Given the description of an element on the screen output the (x, y) to click on. 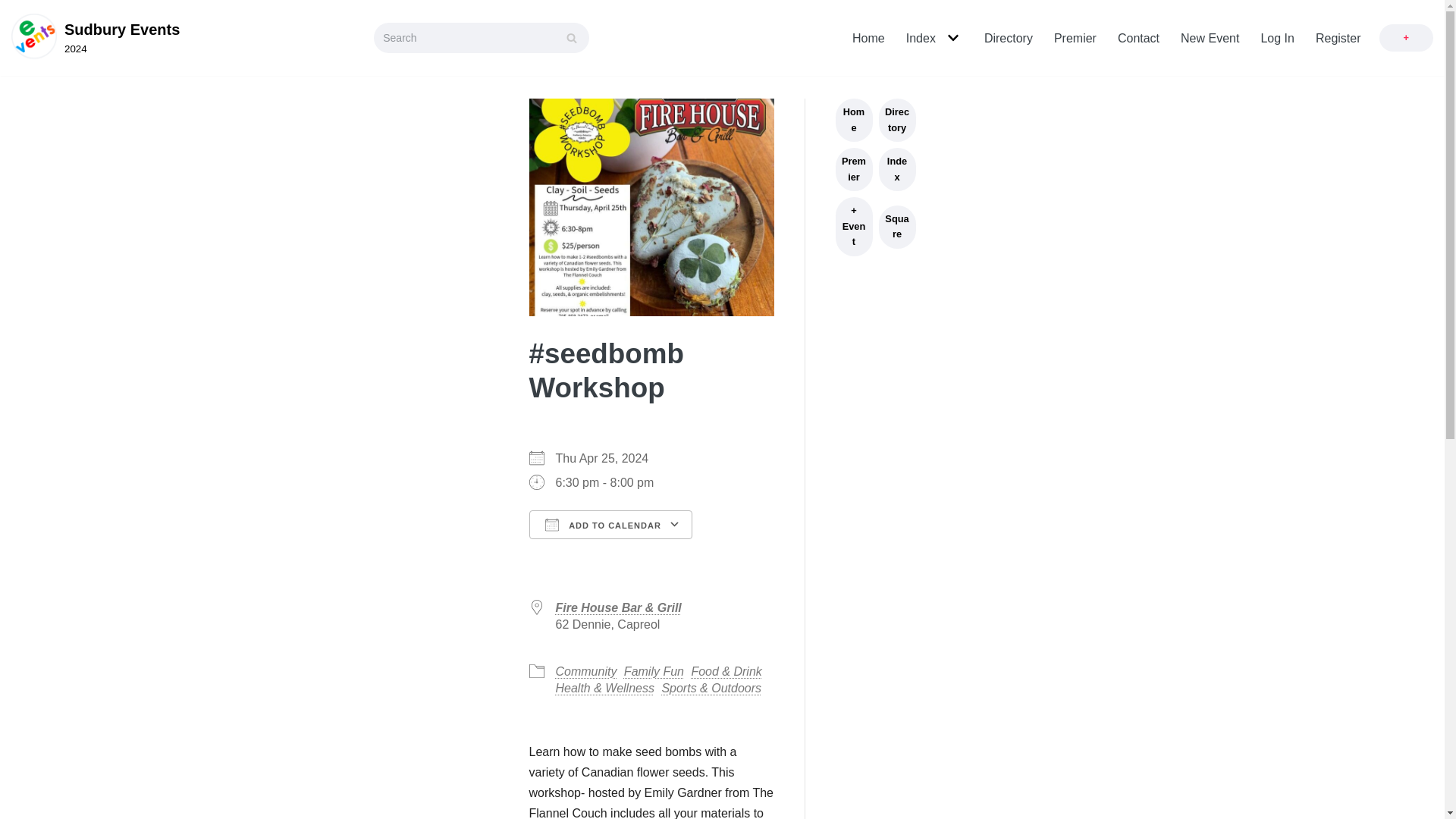
Home (868, 37)
Directory (1008, 37)
Log In (1277, 37)
New Event (1209, 37)
Register (1338, 37)
Sudbury Events (95, 37)
ADD TO CALENDAR (611, 524)
Download ICS (600, 553)
Skip to content (15, 7)
Index (920, 37)
